Given the description of an element on the screen output the (x, y) to click on. 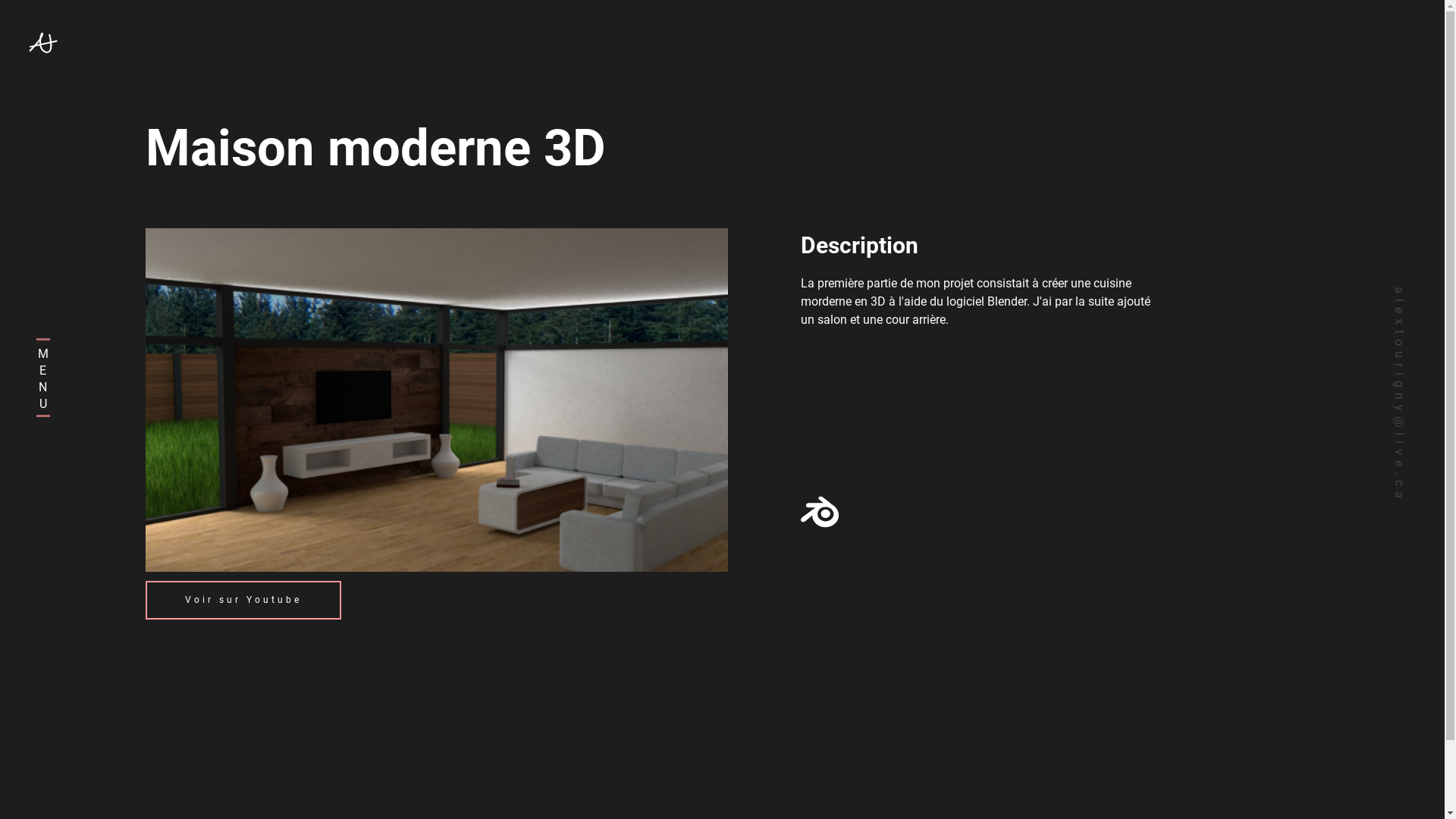
MENU Element type: text (50, 377)
Voir sur Youtube Element type: text (243, 599)
